Given the description of an element on the screen output the (x, y) to click on. 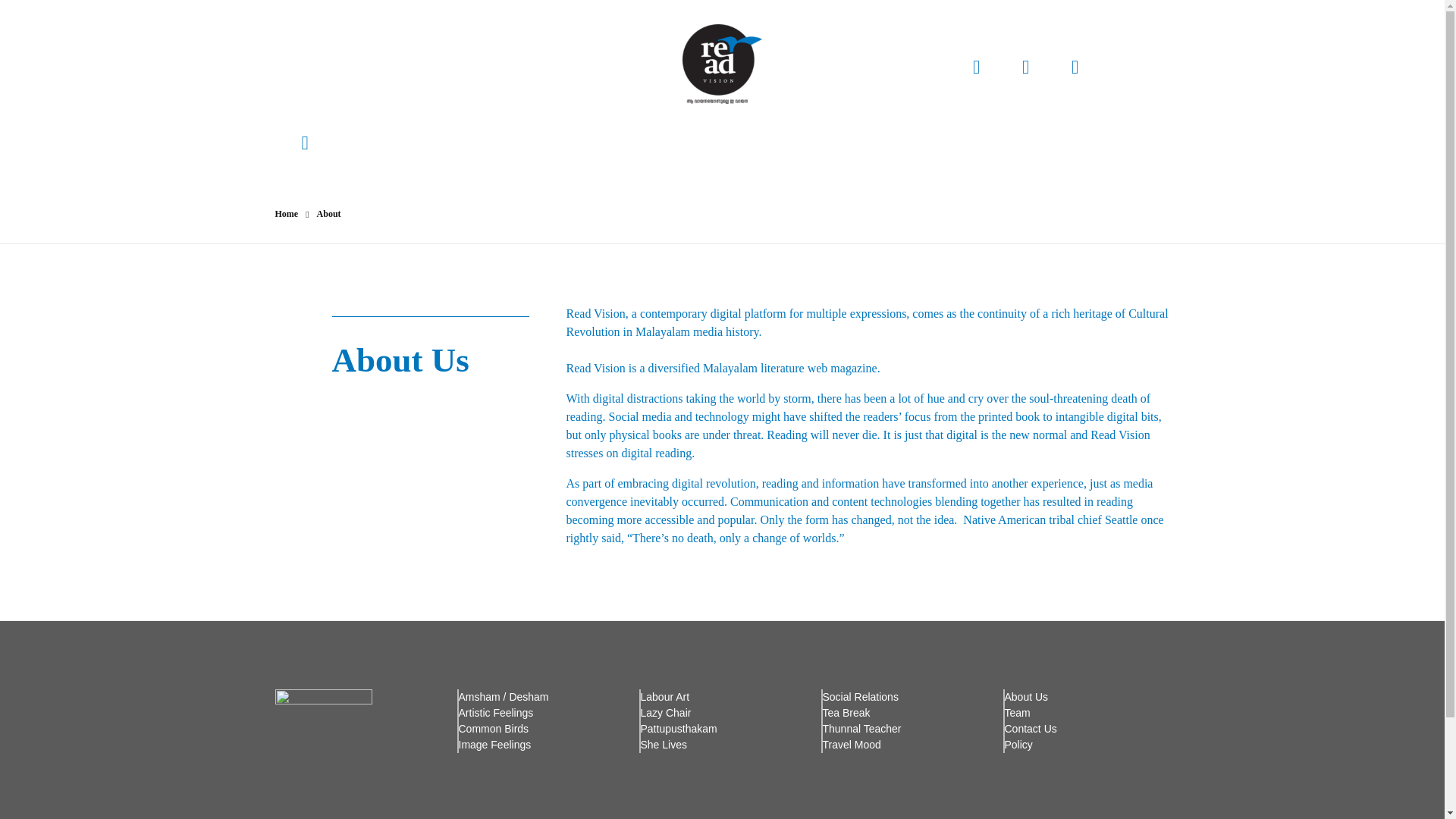
Home (286, 213)
Readvision (712, 112)
Readvision (712, 112)
Home (286, 213)
Readvision (721, 64)
